Given the description of an element on the screen output the (x, y) to click on. 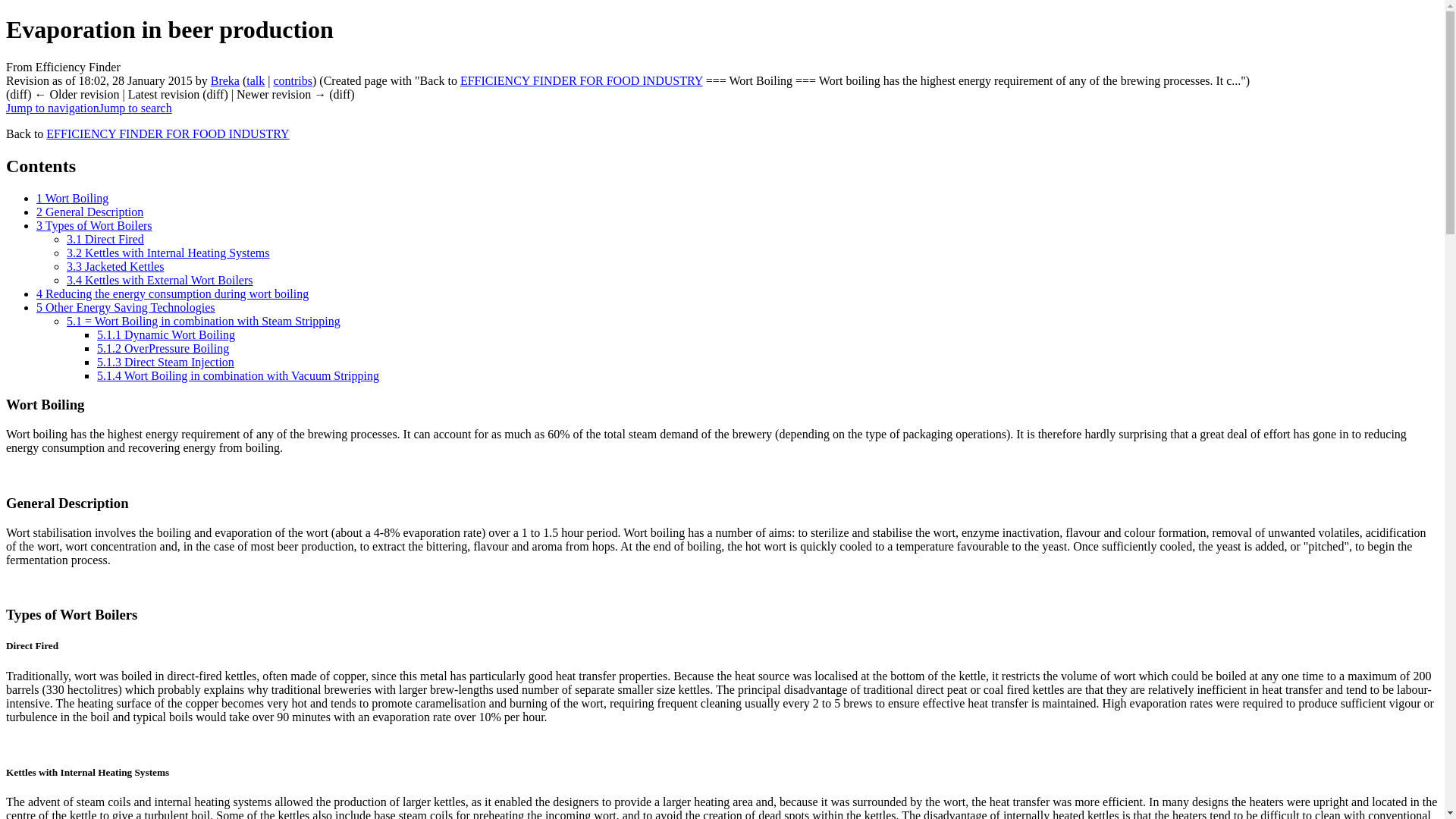
5 Other Energy Saving Technologies (125, 307)
3.3 Jacketed Kettles (114, 266)
5.1.1 Dynamic Wort Boiling (165, 334)
talk (255, 80)
EFFICIENCY FINDER FOR FOOD INDUSTRY (167, 133)
2 General Description (89, 211)
3.4 Kettles with External Wort Boilers (158, 279)
Subsection DA food (581, 80)
Breka (225, 80)
3 Types of Wort Boilers (94, 225)
4 Reducing the energy consumption during wort boiling (172, 293)
5.1.4 Wort Boiling in combination with Vacuum Stripping (237, 375)
3.1 Direct Fired (105, 238)
1 Wort Boiling (71, 197)
5.1.2 OverPressure Boiling (162, 348)
